Given the description of an element on the screen output the (x, y) to click on. 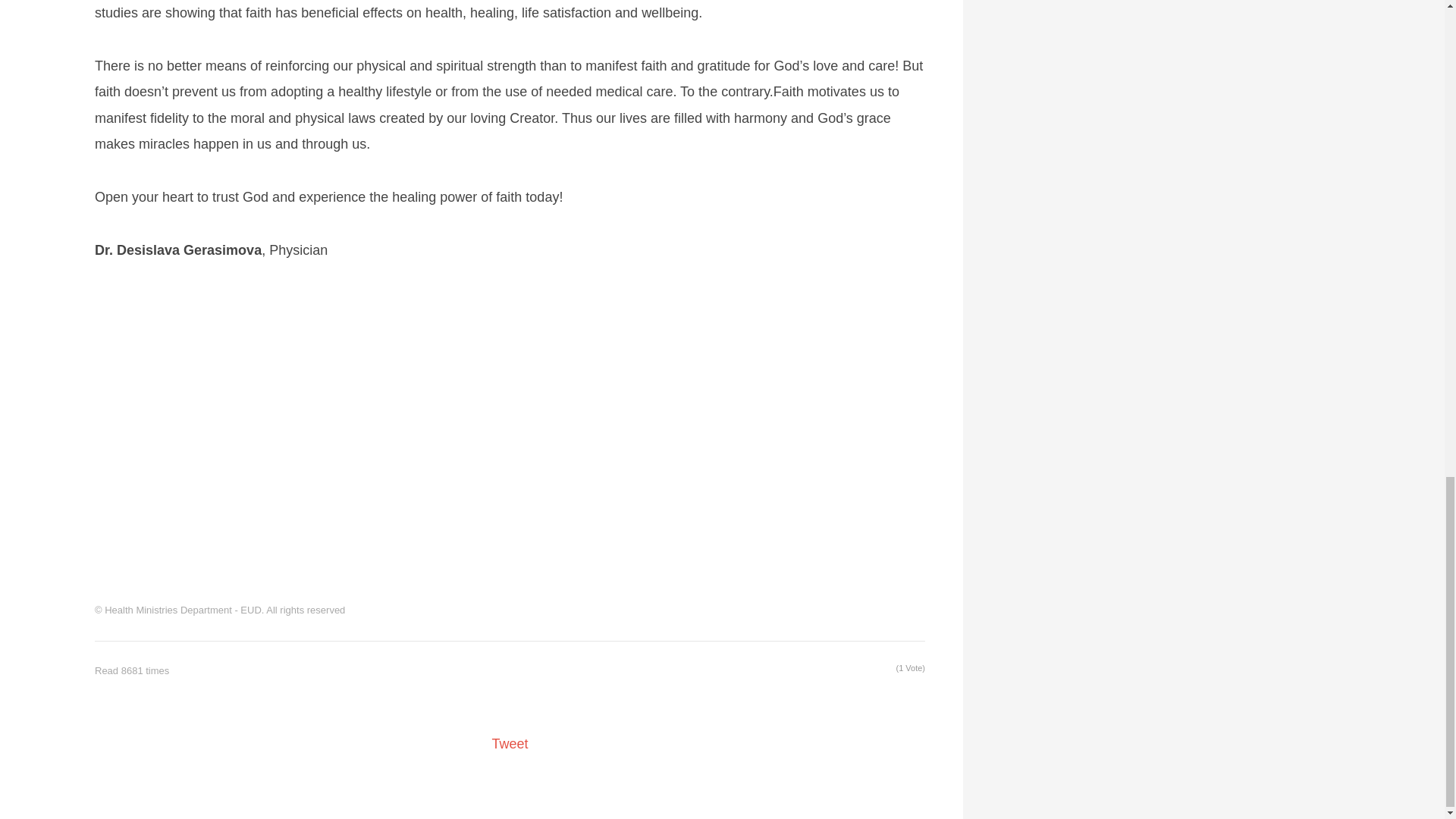
5 (840, 669)
3 stars out of 5 (821, 669)
2 (812, 669)
4 (831, 669)
4 stars out of 5 (831, 669)
Tweet (509, 743)
2 stars out of 5 (812, 669)
1 (802, 669)
1 star out of 5 (802, 669)
5 stars out of 5 (840, 669)
3 (821, 669)
